Given the description of an element on the screen output the (x, y) to click on. 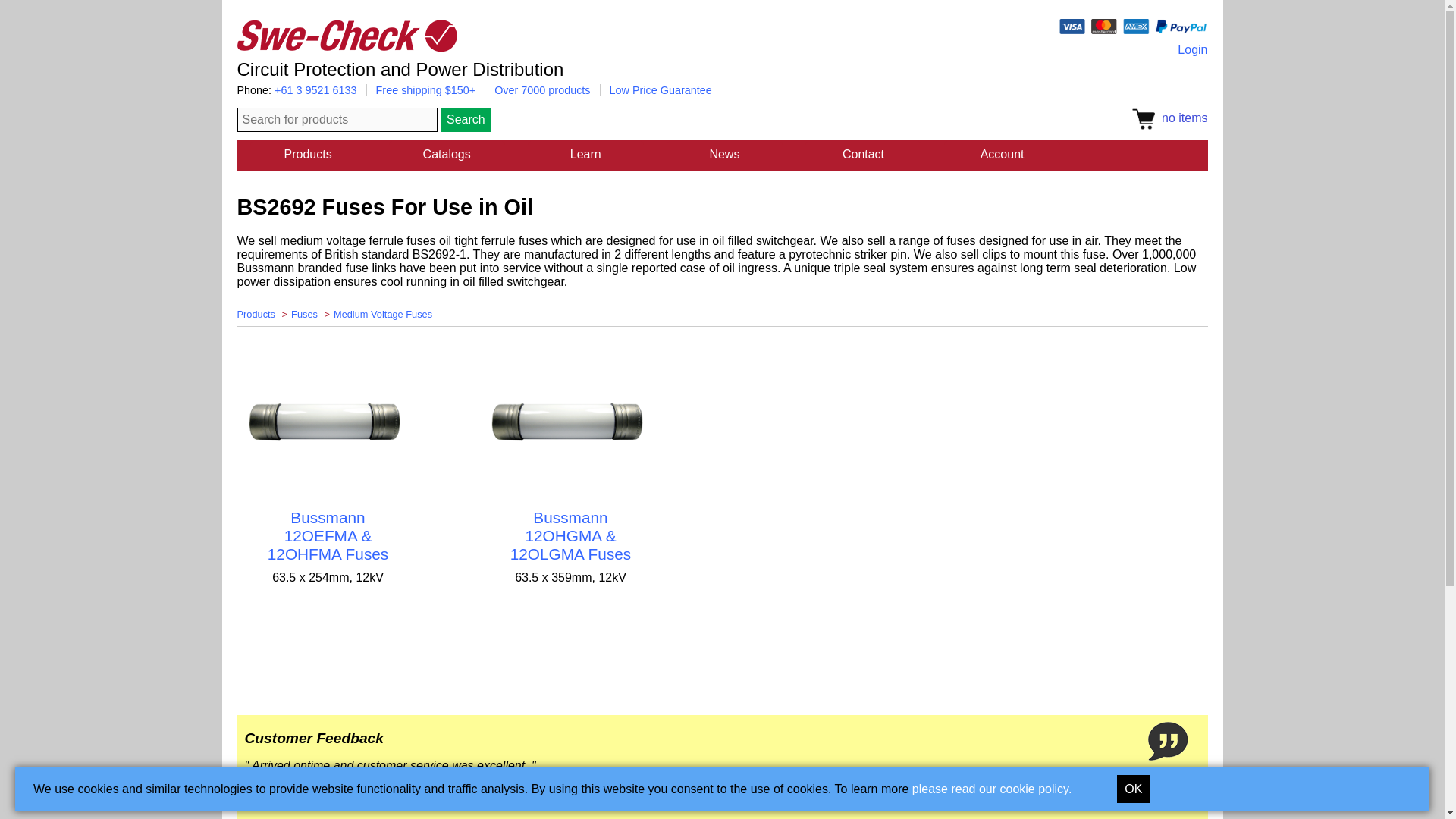
Low Price Guarantee (660, 90)
Click to View Products (327, 535)
Search (465, 119)
Click to View Products (571, 421)
News (724, 154)
Search (465, 119)
Login (1192, 49)
Over 7000 products (542, 90)
  no items (1169, 117)
Learn (585, 154)
Click to View Products (571, 535)
Contact (863, 154)
Click to View Products (327, 421)
Products (308, 154)
Account (1001, 154)
